Given the description of an element on the screen output the (x, y) to click on. 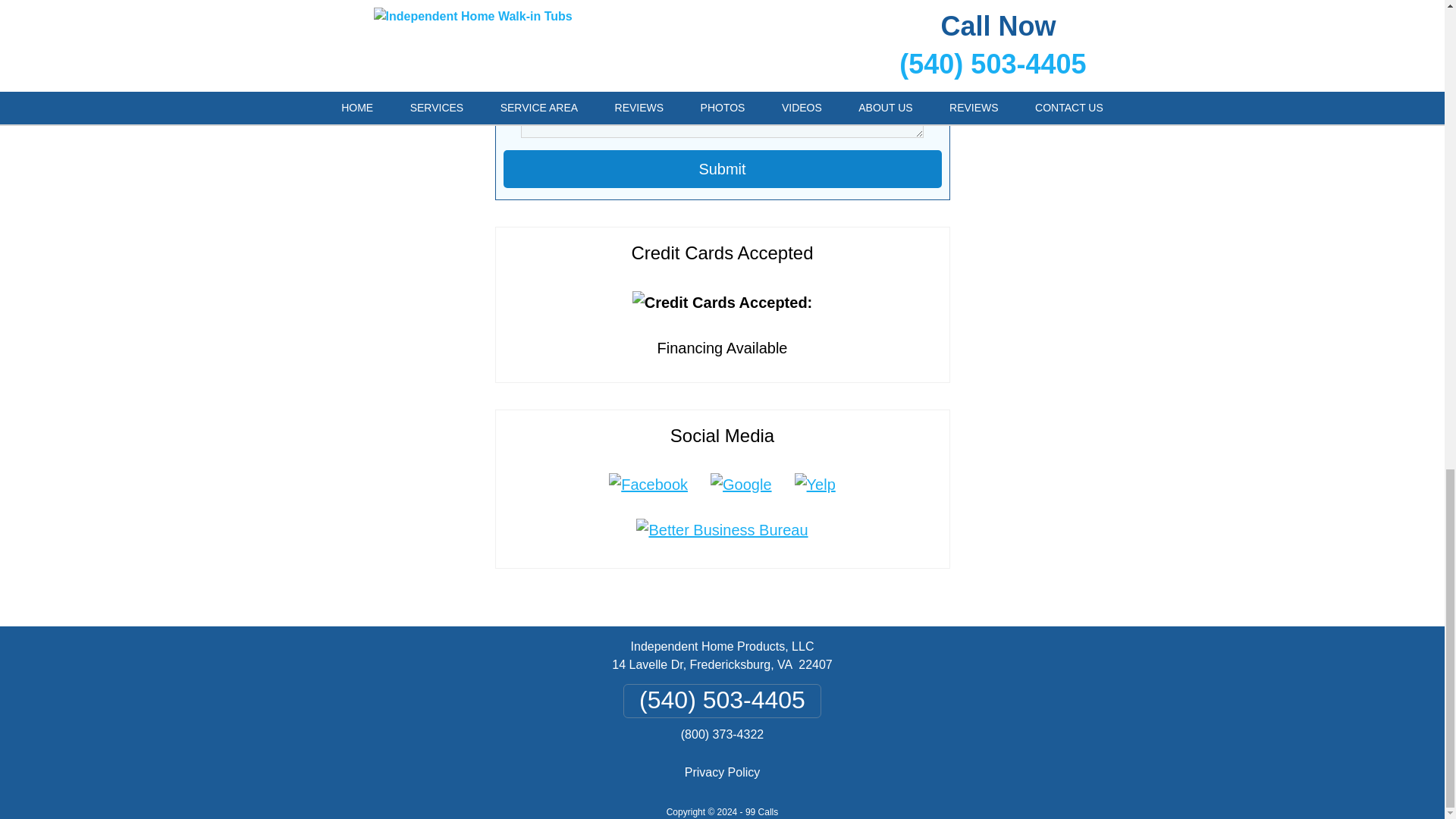
Submit (722, 168)
Better Business Bureau (721, 529)
Google (740, 484)
Facebook (647, 484)
Yelp (815, 484)
